Given the description of an element on the screen output the (x, y) to click on. 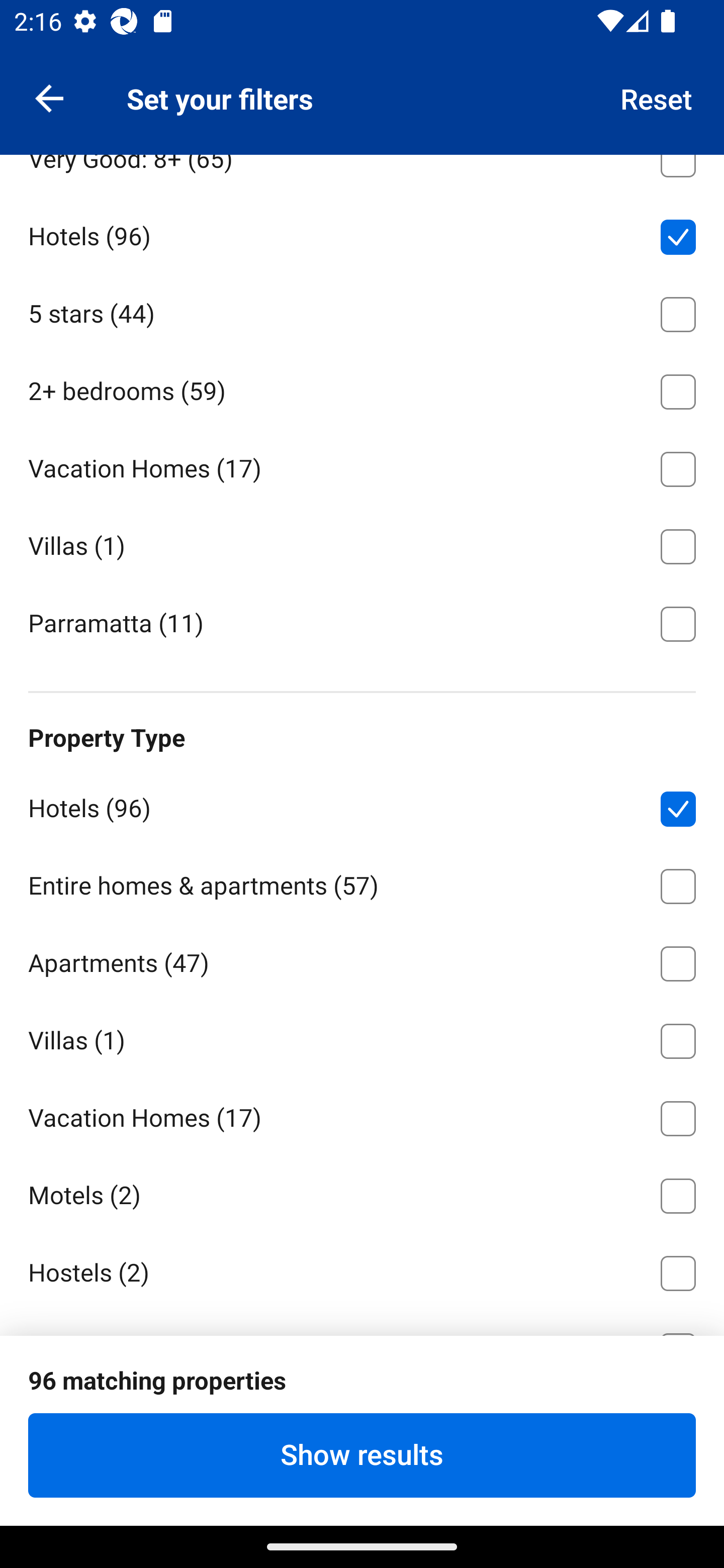
Apartments ⁦(47) (361, 78)
Navigate up (49, 97)
Reset (656, 97)
Very Good: 8+ ⁦(65) (361, 174)
Hotels ⁦(96) (361, 233)
5 stars ⁦(44) (361, 310)
2+ bedrooms ⁦(59) (361, 387)
Vacation Homes ⁦(17) (361, 465)
Villas ⁦(1) (361, 542)
Parramatta ⁦(11) (361, 622)
Hotels ⁦(96) (361, 804)
Entire homes & apartments ⁦(57) (361, 882)
Apartments ⁦(47) (361, 959)
Villas ⁦(1) (361, 1037)
Vacation Homes ⁦(17) (361, 1115)
Motels ⁦(2) (361, 1192)
Hostels ⁦(2) (361, 1269)
Show results (361, 1454)
